Given the description of an element on the screen output the (x, y) to click on. 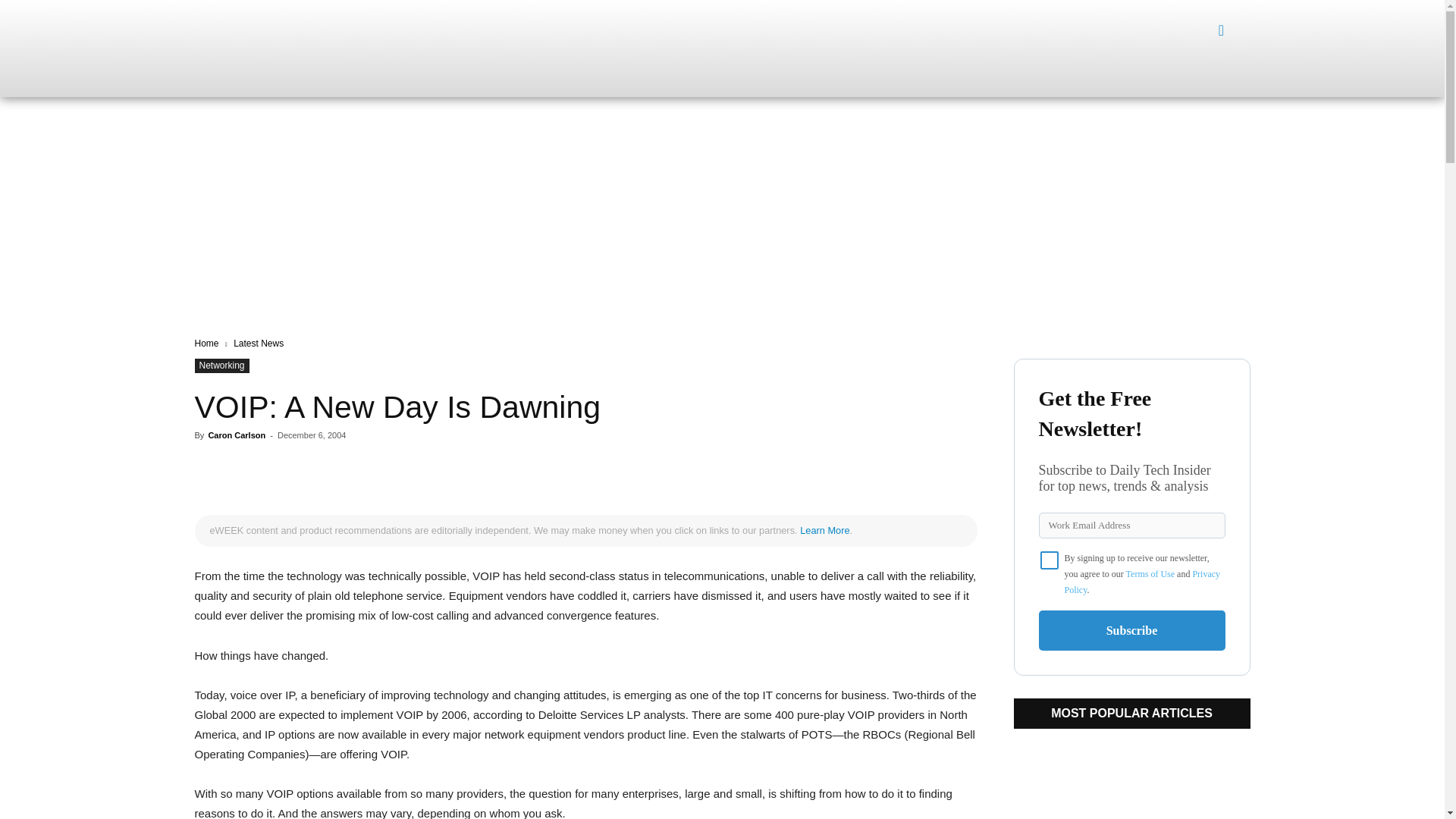
on (1049, 560)
